Given the description of an element on the screen output the (x, y) to click on. 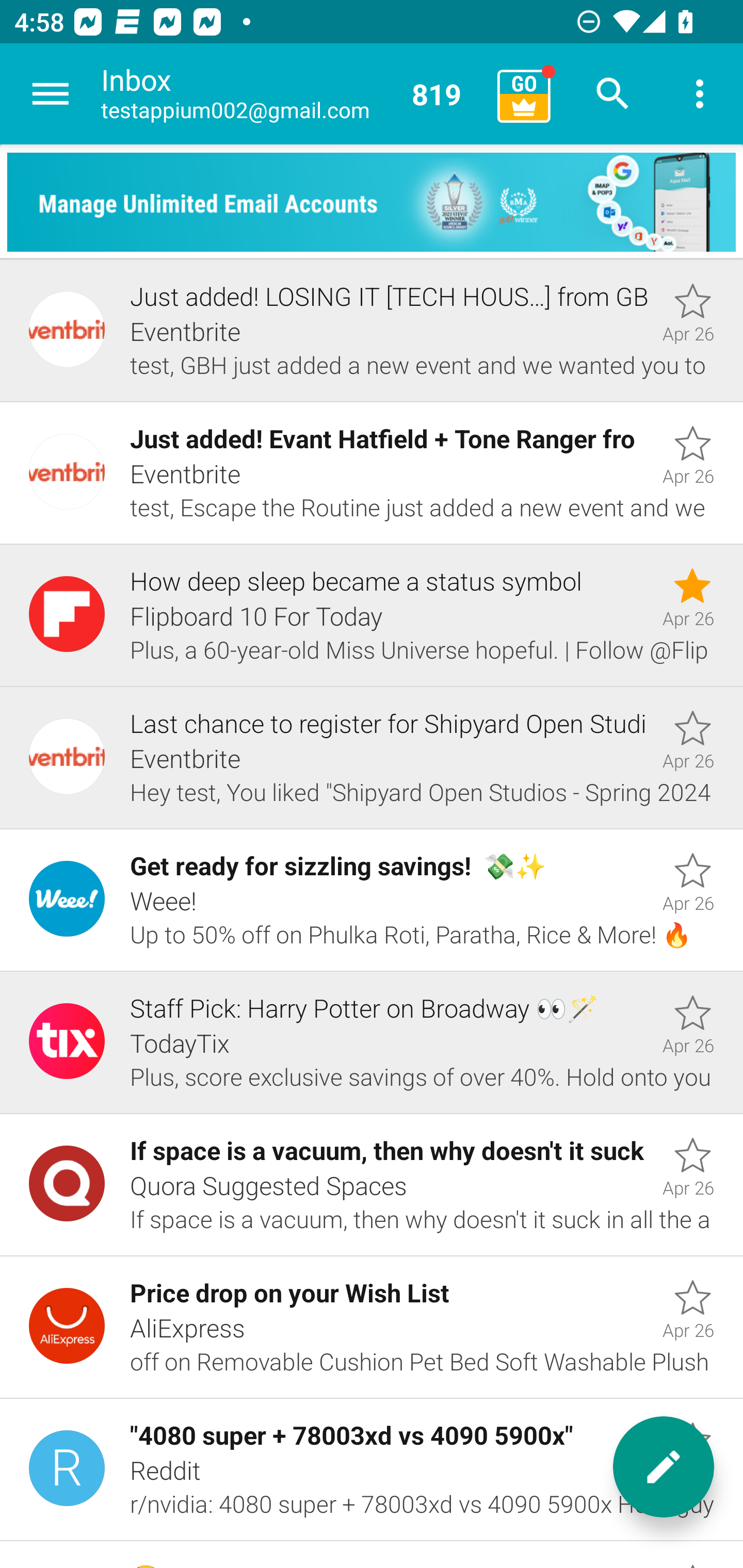
Navigate up (50, 93)
Inbox testappium002@gmail.com 819 (291, 93)
Search (612, 93)
More options (699, 93)
New message (663, 1466)
